Given the description of an element on the screen output the (x, y) to click on. 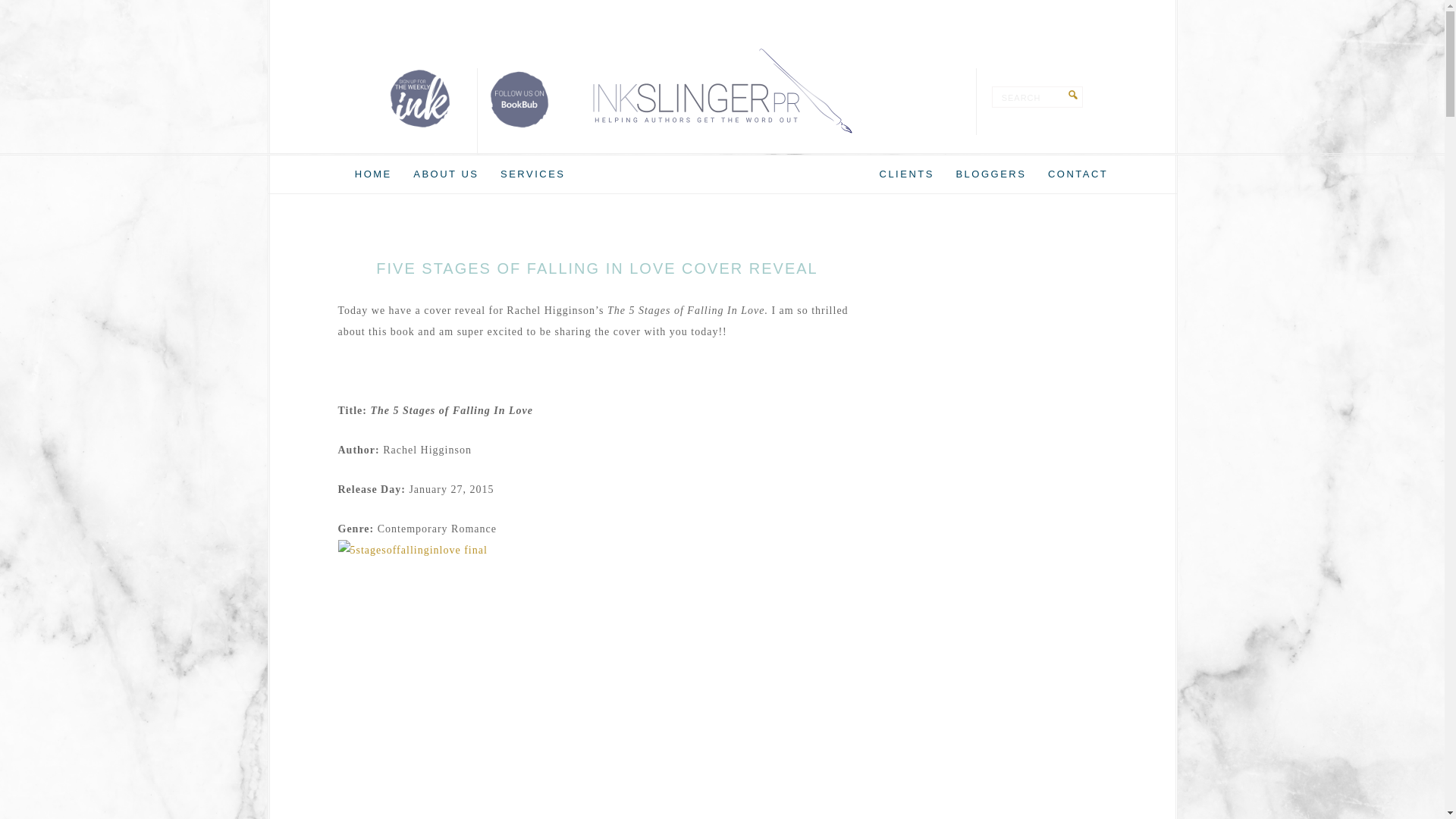
INKSLINGER PR (722, 91)
CLIENTS (906, 174)
ABOUT US (445, 174)
BLOGGERS (990, 174)
HOME (373, 174)
CONTACT (1077, 174)
SERVICES (533, 174)
